Given the description of an element on the screen output the (x, y) to click on. 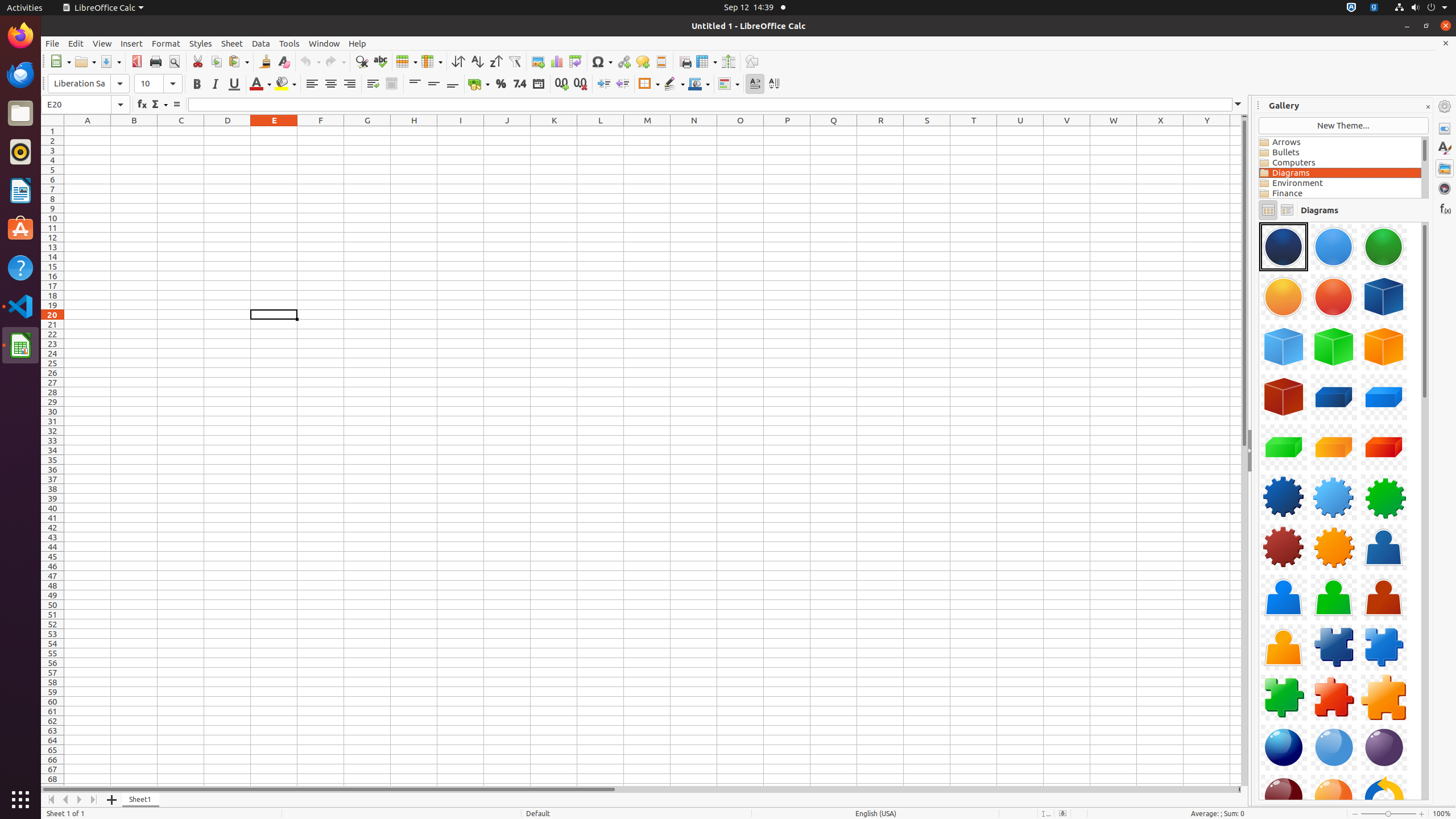
Component-Sphere05-Orange Element type: list-item (1259, 222)
Bold Element type: toggle-button (196, 83)
Paste Element type: push-button (237, 61)
Delete Decimal Place Element type: push-button (580, 83)
LibreOffice Writer Element type: push-button (20, 190)
